Given the description of an element on the screen output the (x, y) to click on. 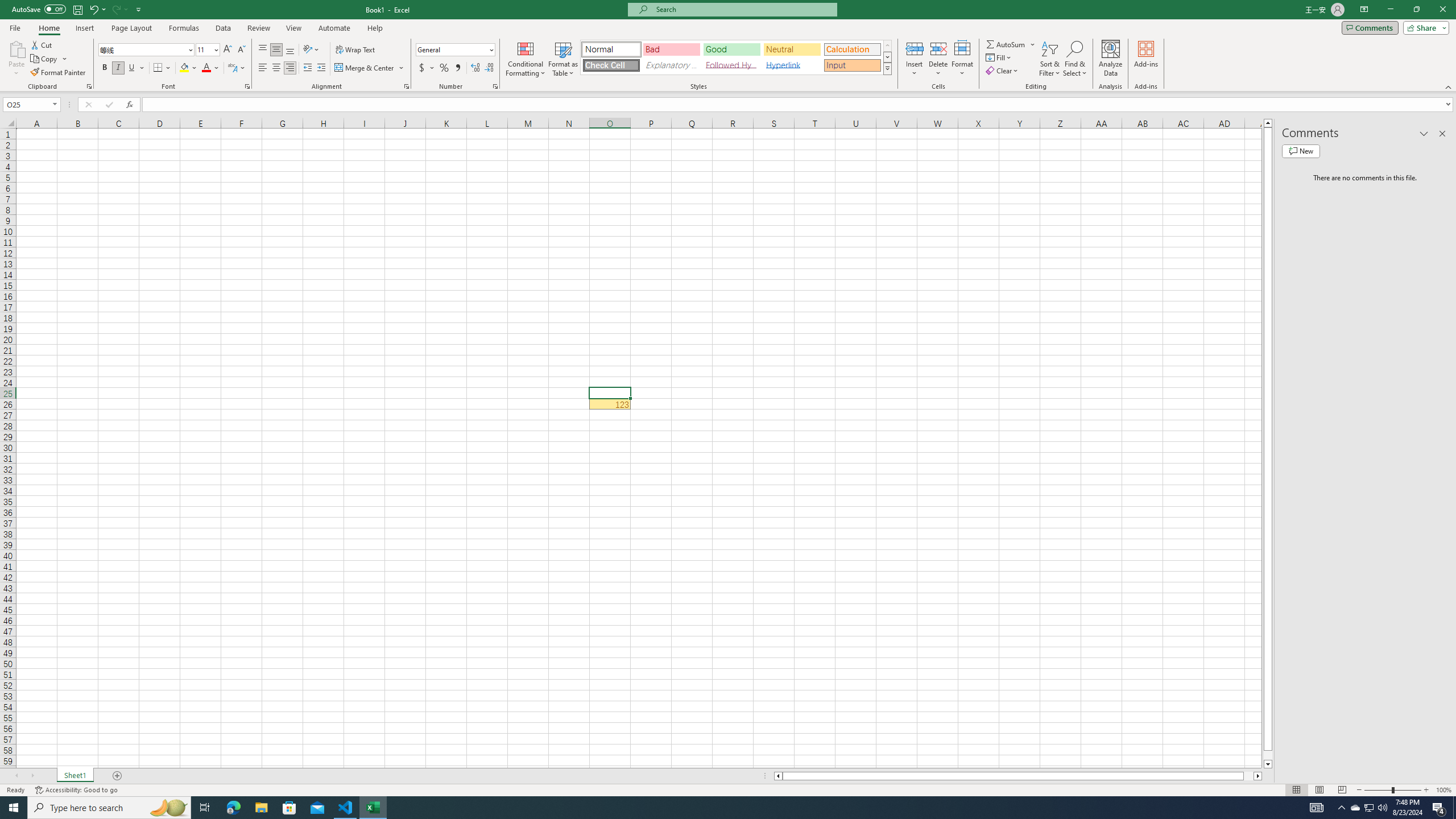
Office Clipboard... (88, 85)
Accounting Number Format (426, 67)
Fill Color (188, 67)
Font Size (204, 49)
Comma Style (457, 67)
Increase Decimal (474, 67)
Paste (16, 48)
Conditional Formatting (525, 58)
Cell Styles (887, 68)
